Given the description of an element on the screen output the (x, y) to click on. 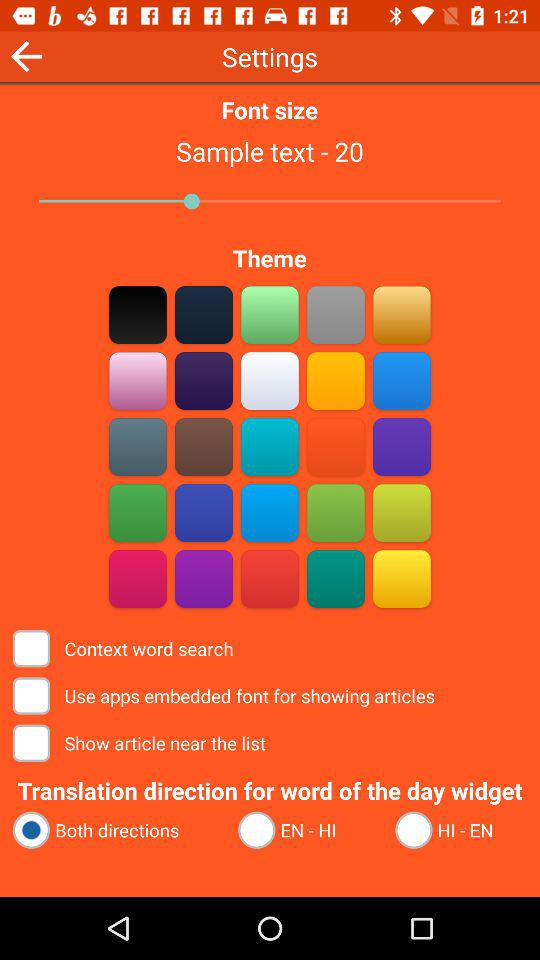
select the color yellow (401, 578)
